Given the description of an element on the screen output the (x, y) to click on. 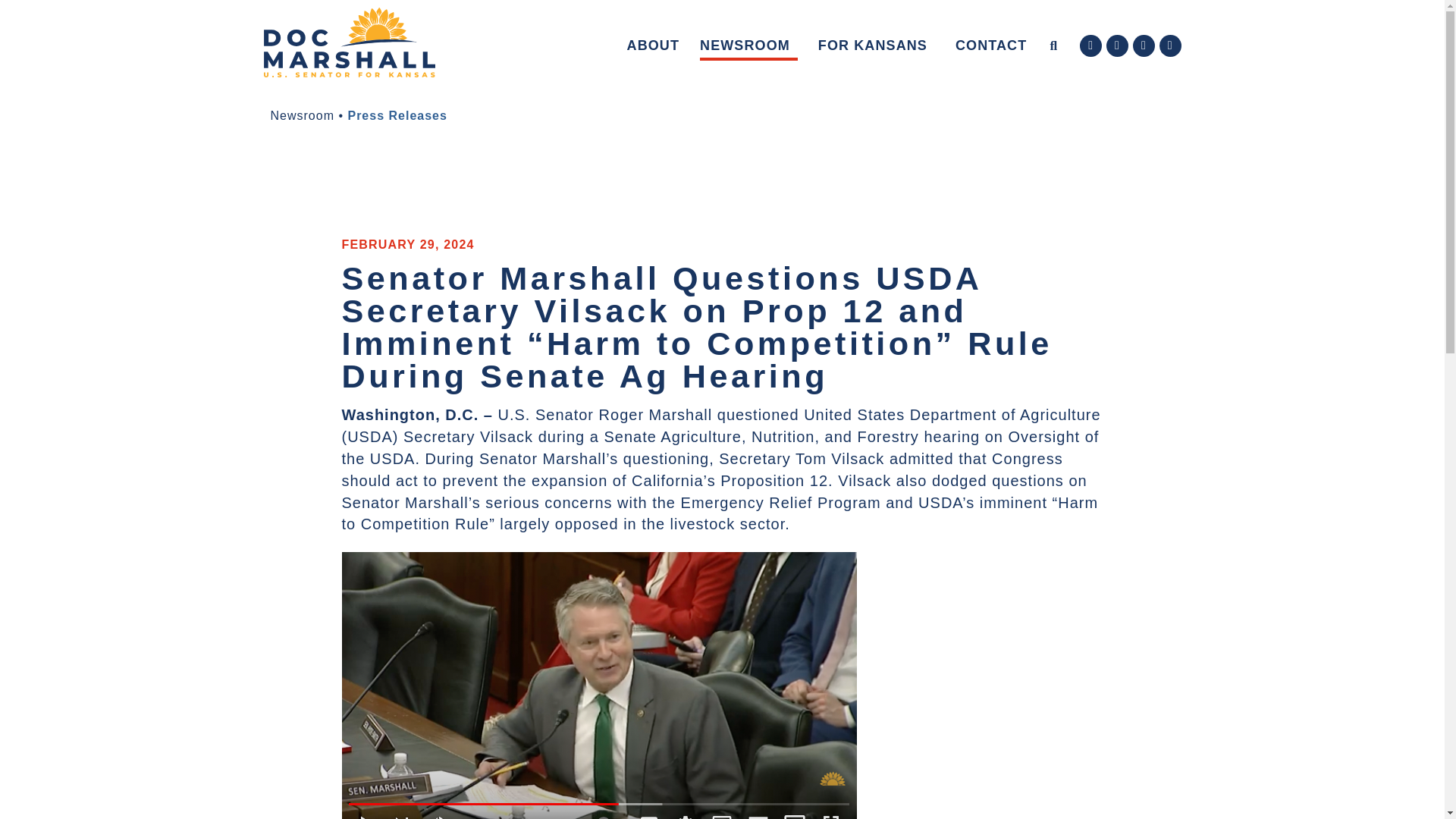
FOR KANSANS (876, 45)
ABOUT (653, 45)
NEWSROOM (748, 45)
CONTACT (990, 45)
